Given the description of an element on the screen output the (x, y) to click on. 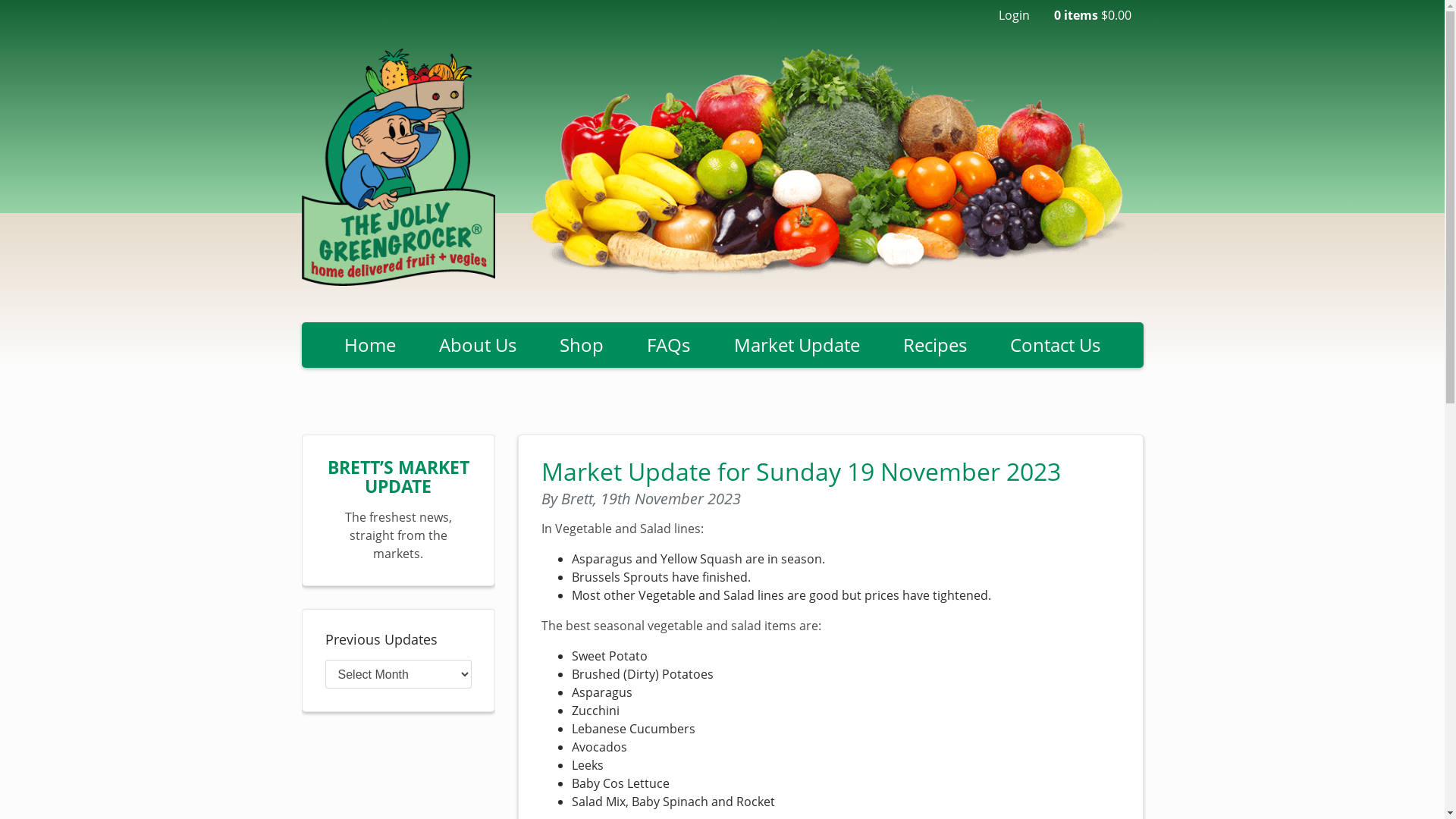
Home Element type: text (370, 344)
Recipes Element type: text (934, 344)
About Us Element type: text (477, 344)
Login Element type: text (1013, 15)
Market Update Element type: text (796, 344)
Market Update for Sunday 19 November 2023 Element type: text (800, 471)
Shop Element type: text (581, 344)
Contact Us Element type: text (1054, 344)
The Jolly Greengrocer Element type: hover (398, 166)
0 items $0.00 Element type: text (1092, 15)
FAQs Element type: text (668, 344)
